Given the description of an element on the screen output the (x, y) to click on. 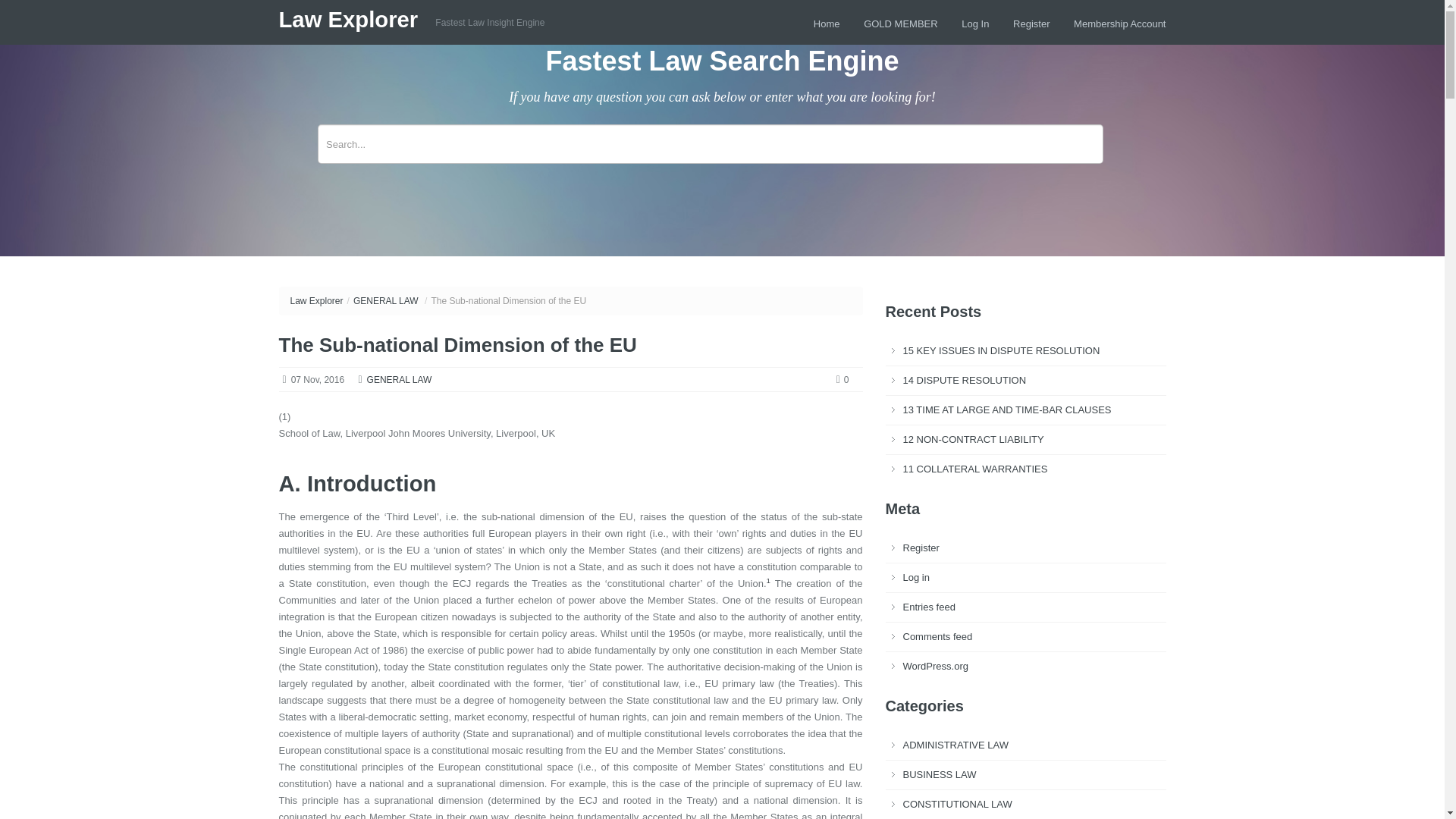
Law Explorer (315, 300)
Law Explorer (352, 19)
Log In (974, 23)
GENERAL LAW (386, 300)
Home (826, 23)
GENERAL LAW (399, 379)
Register (1031, 23)
Law Explorer (352, 19)
GOLD MEMBER (900, 23)
The Sub-national Dimension of the EU (458, 344)
